Given the description of an element on the screen output the (x, y) to click on. 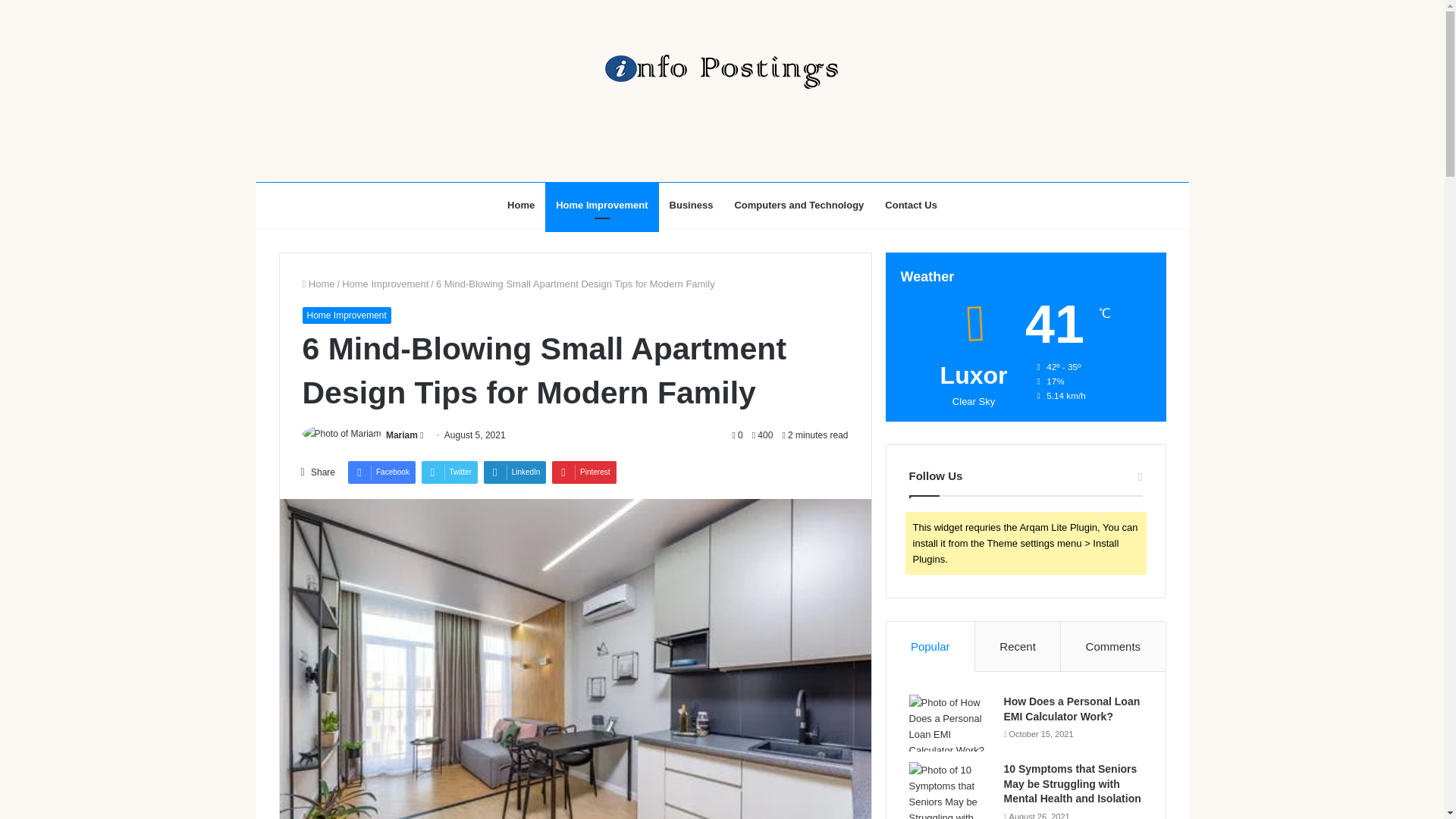
Contact Us (911, 205)
Computers and Technology (799, 205)
Facebook (380, 472)
Home Improvement (345, 315)
Facebook (380, 472)
Info Postings (721, 71)
Home (317, 283)
Mariam (401, 434)
LinkedIn (515, 472)
Home Improvement (601, 205)
